Given the description of an element on the screen output the (x, y) to click on. 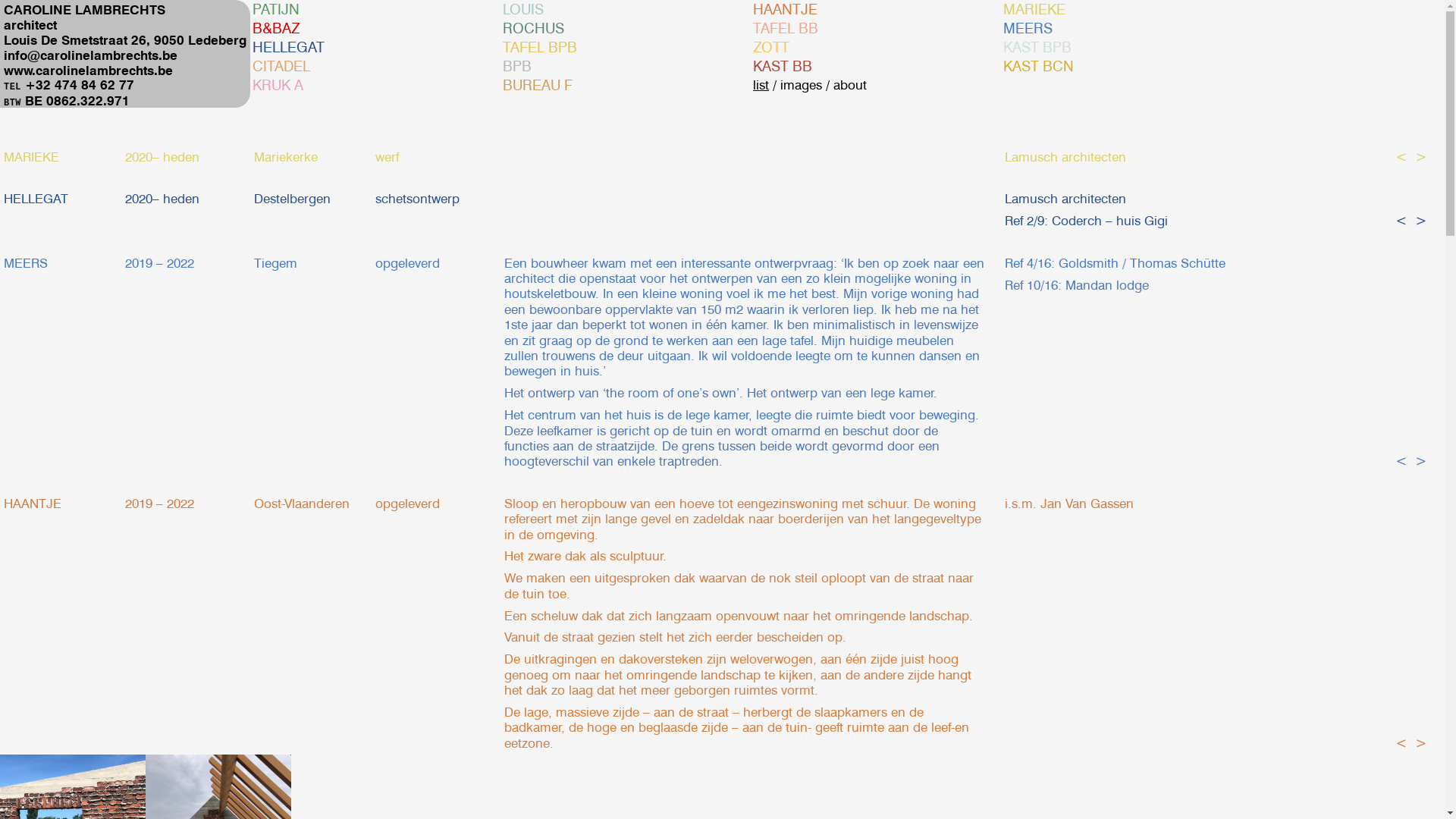
about Element type: text (849, 84)
images Element type: text (801, 84)
list Element type: text (760, 84)
